Given the description of an element on the screen output the (x, y) to click on. 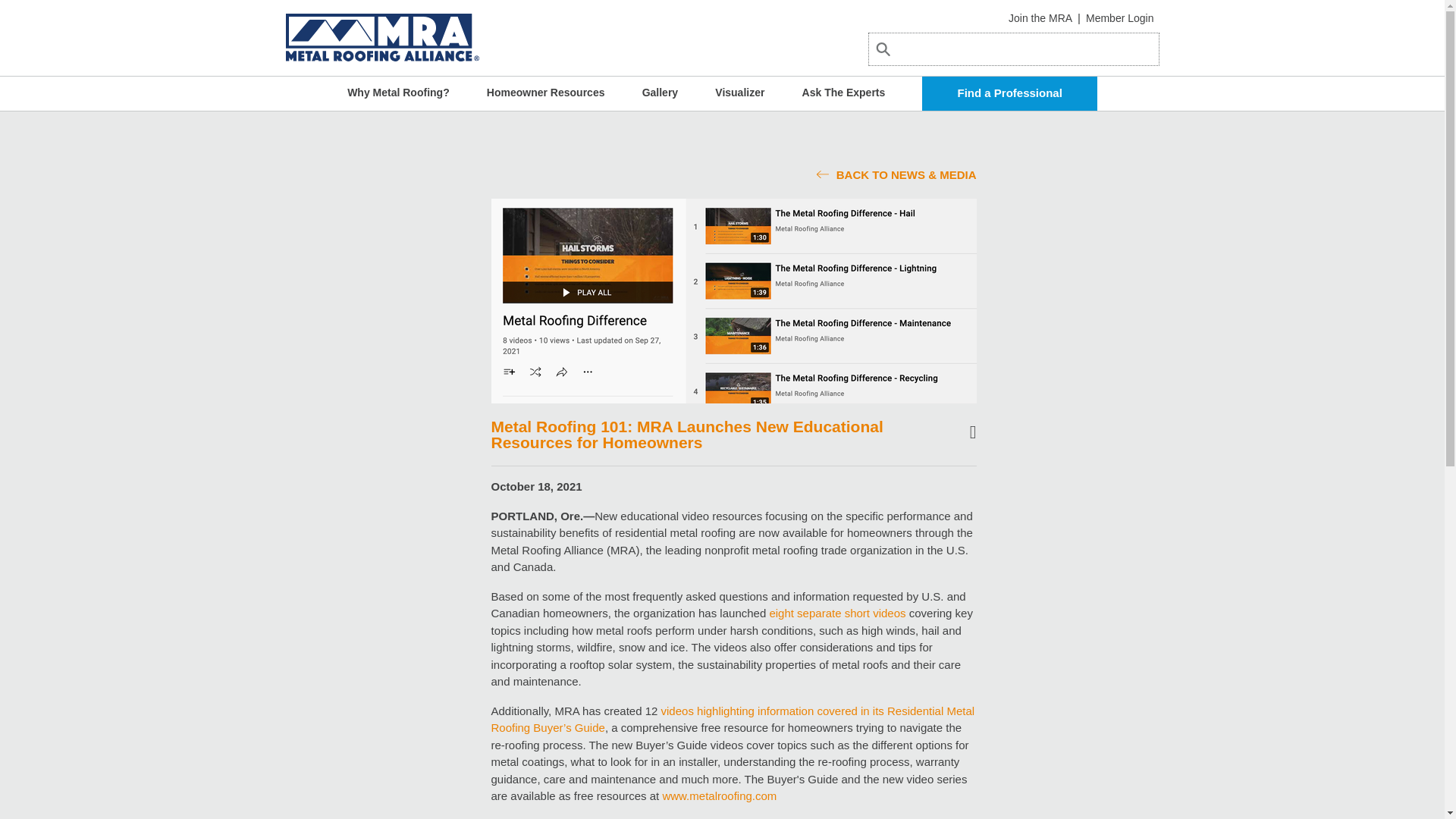
Why Metal Roofing? (398, 92)
Join the MRA (1040, 18)
Member Login (1120, 18)
Gallery (660, 92)
Ask The Experts (843, 92)
Homeowner Resources (545, 92)
Find a Professional (1008, 93)
Visualizer (739, 92)
Search (904, 67)
